Given the description of an element on the screen output the (x, y) to click on. 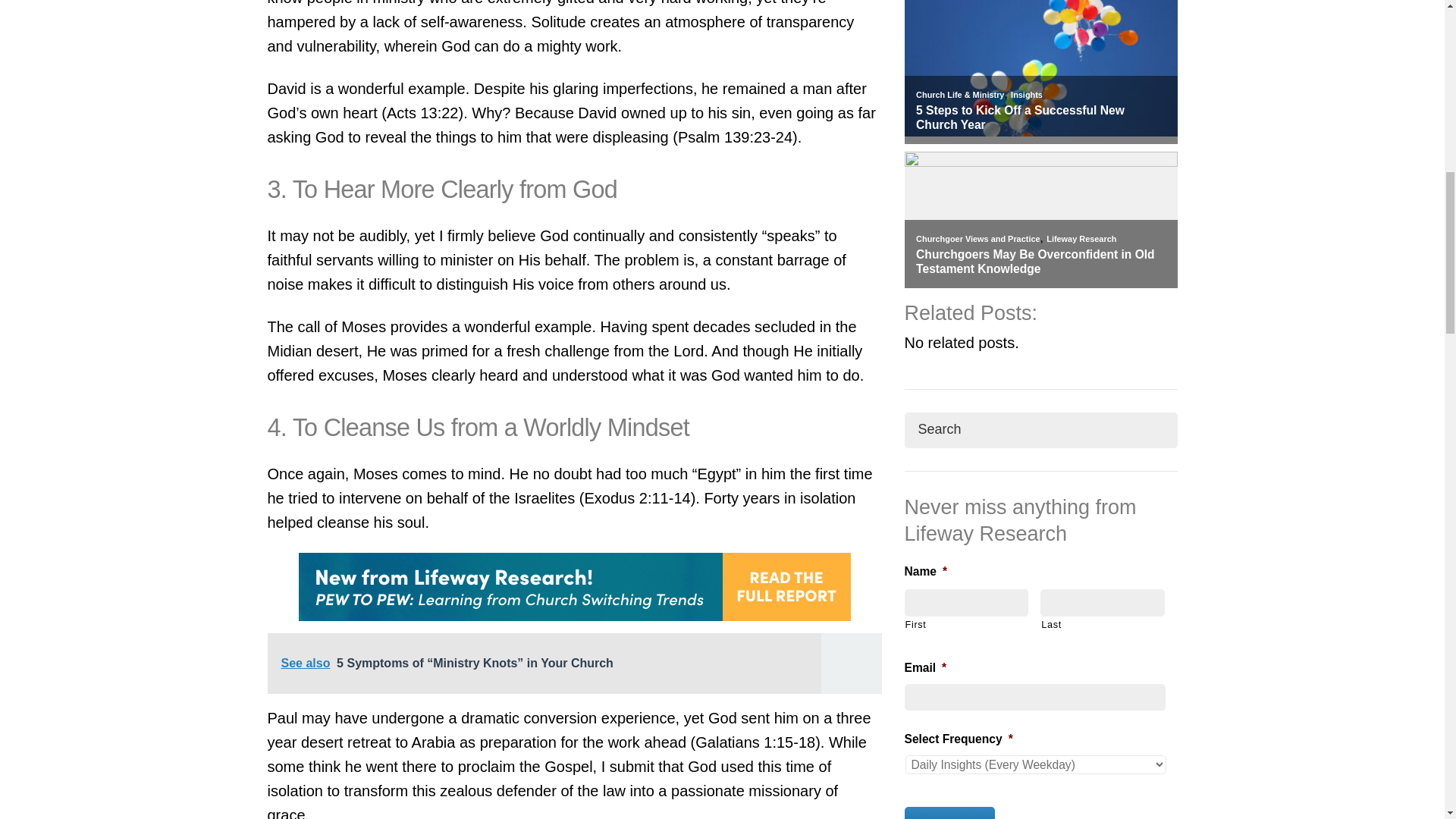
Insights (1026, 94)
Lifeway Research (1081, 238)
Churchgoer Views and Practice (977, 238)
Submit (949, 812)
5 Steps to Kick Off a Successful New Church Year (1040, 117)
